Given the description of an element on the screen output the (x, y) to click on. 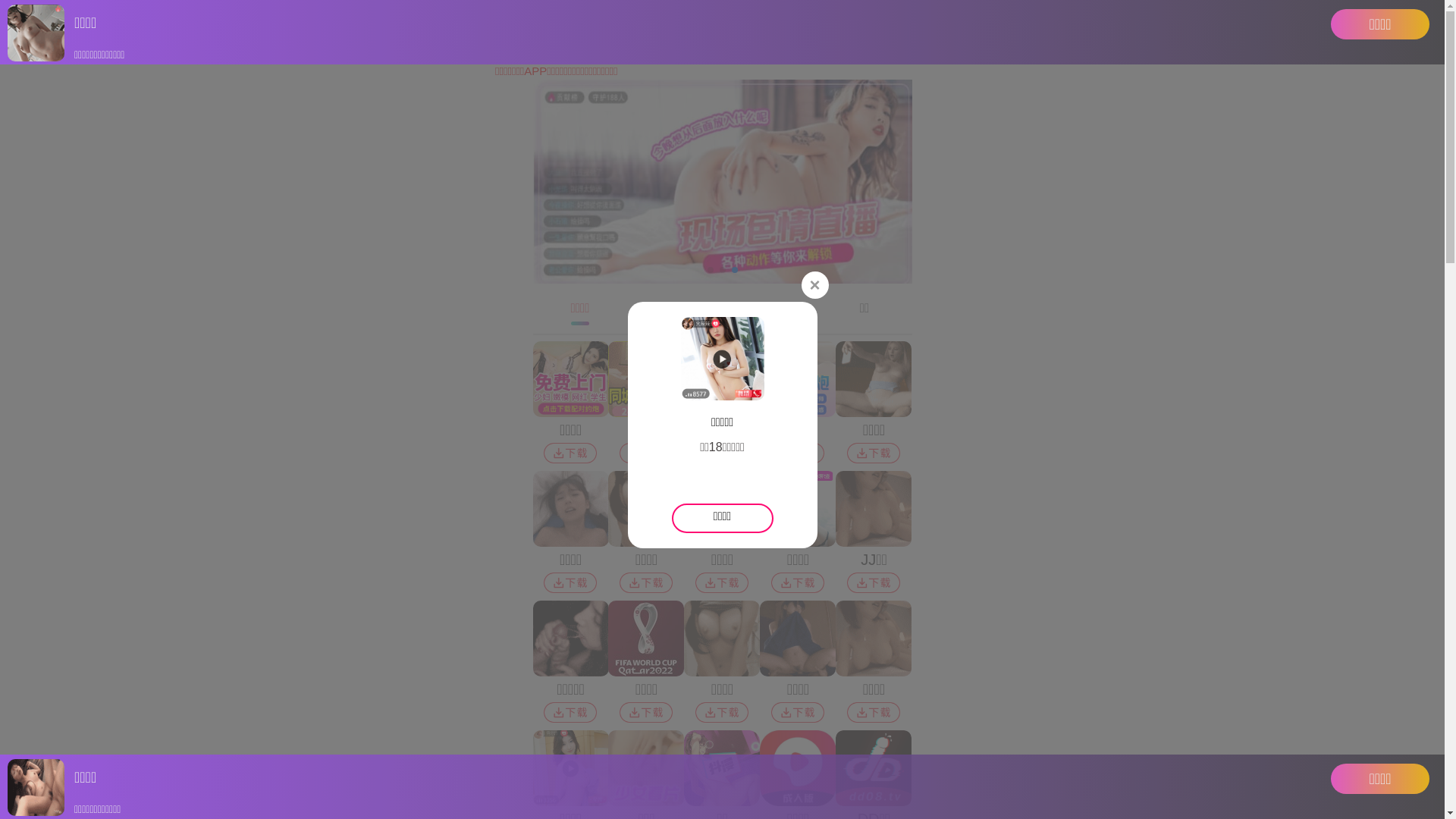
2023-10-22 Element type: text (727, 397)
2023-10-22 Element type: text (927, 556)
2023-10-22 Element type: text (329, 556)
2023-10-22 Element type: text (1125, 556)
2023-10-22 Element type: text (528, 397)
2023-10-22 Element type: text (528, 556)
2023-10-22 Element type: text (927, 397)
2023-10-22 Element type: text (1125, 397)
3P Element type: text (668, 216)
2023-10-22 Element type: text (727, 556)
2023-10-22 Element type: text (329, 397)
